Given the description of an element on the screen output the (x, y) to click on. 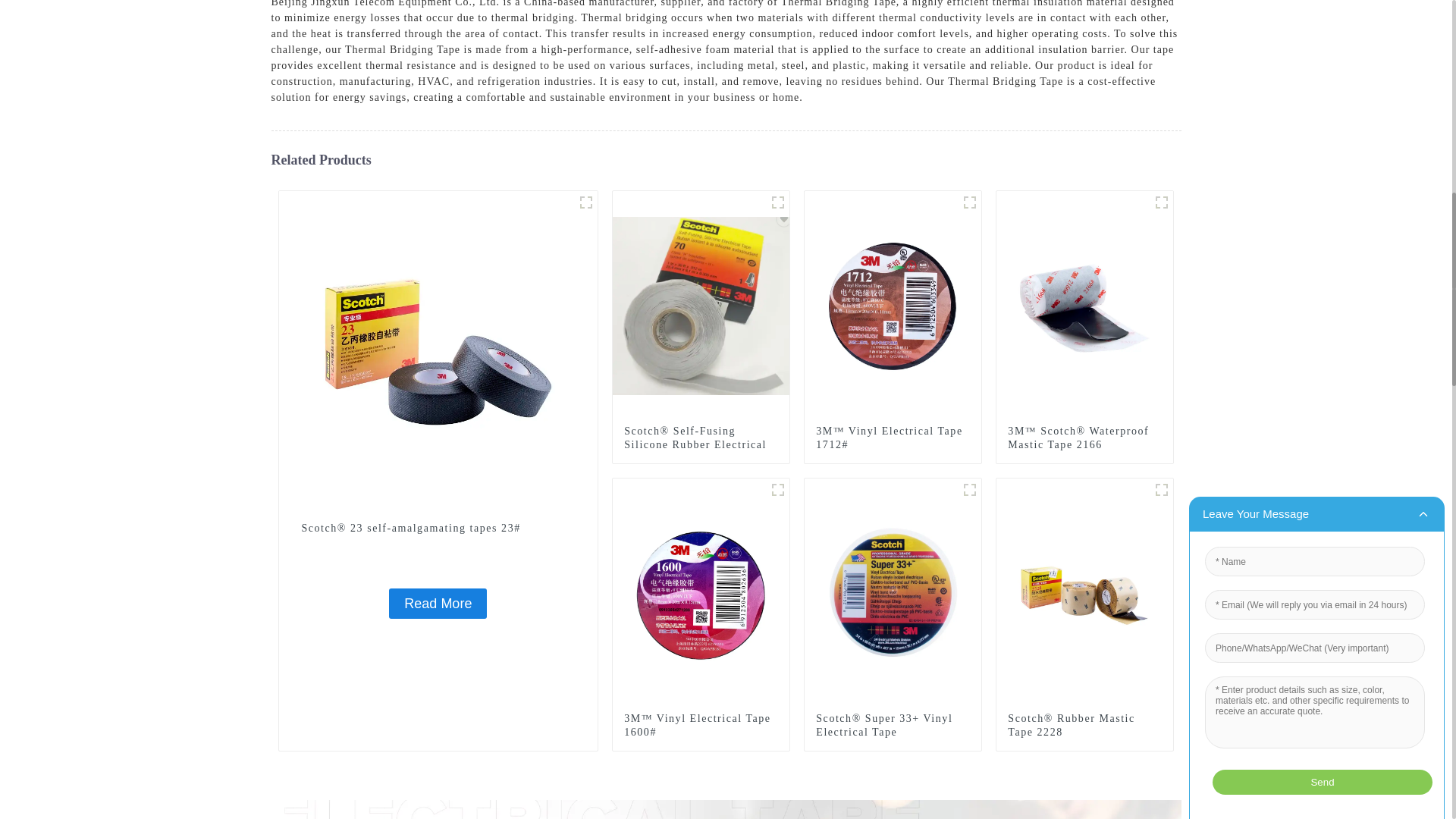
Read More (437, 603)
WechatIMG437 (778, 201)
